Given the description of an element on the screen output the (x, y) to click on. 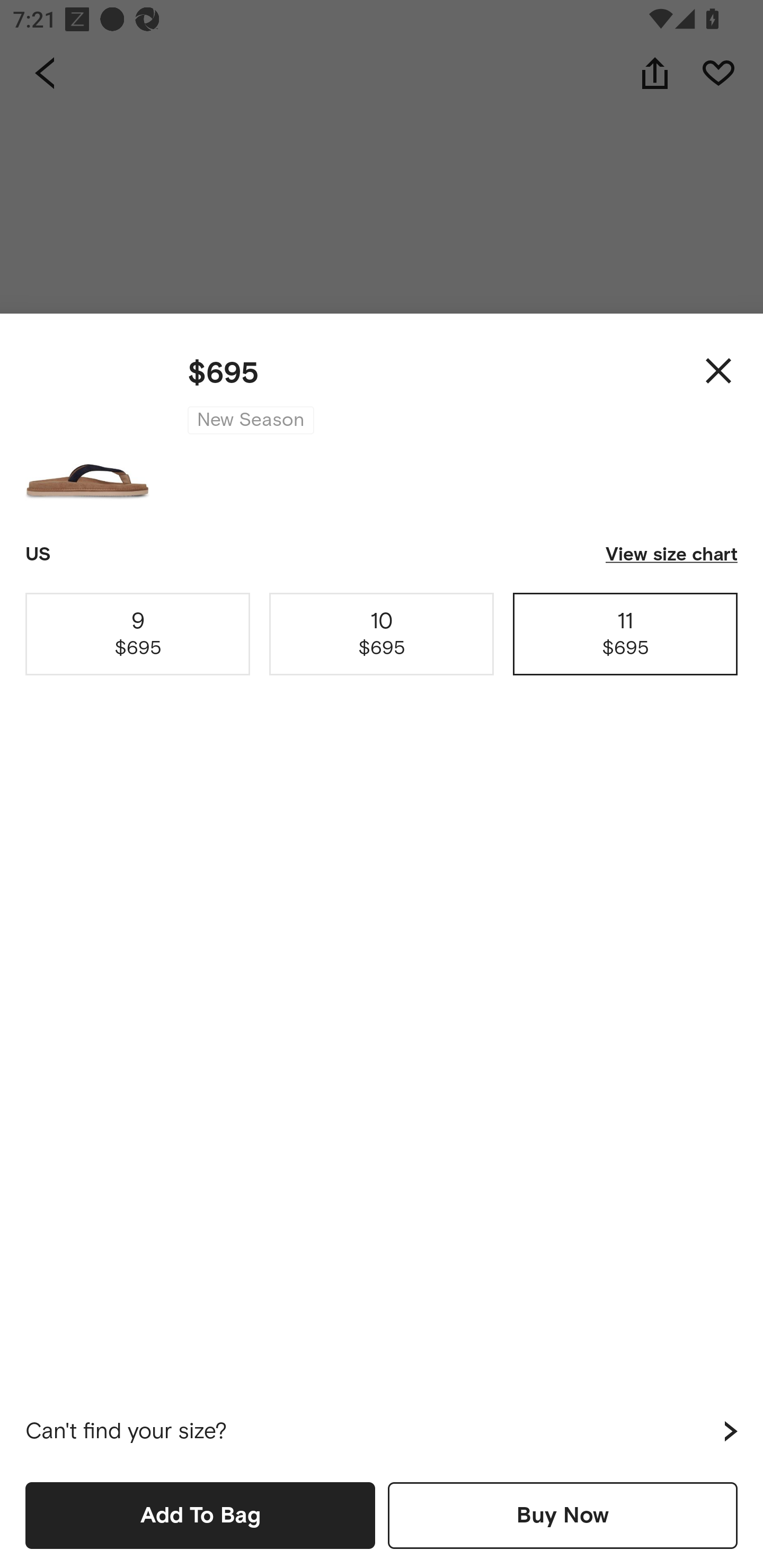
9 $695 (137, 633)
10 $695 (381, 633)
11 $695 (624, 633)
Can't find your size? (381, 1431)
Add To Bag (200, 1515)
Buy Now (562, 1515)
